Given the description of an element on the screen output the (x, y) to click on. 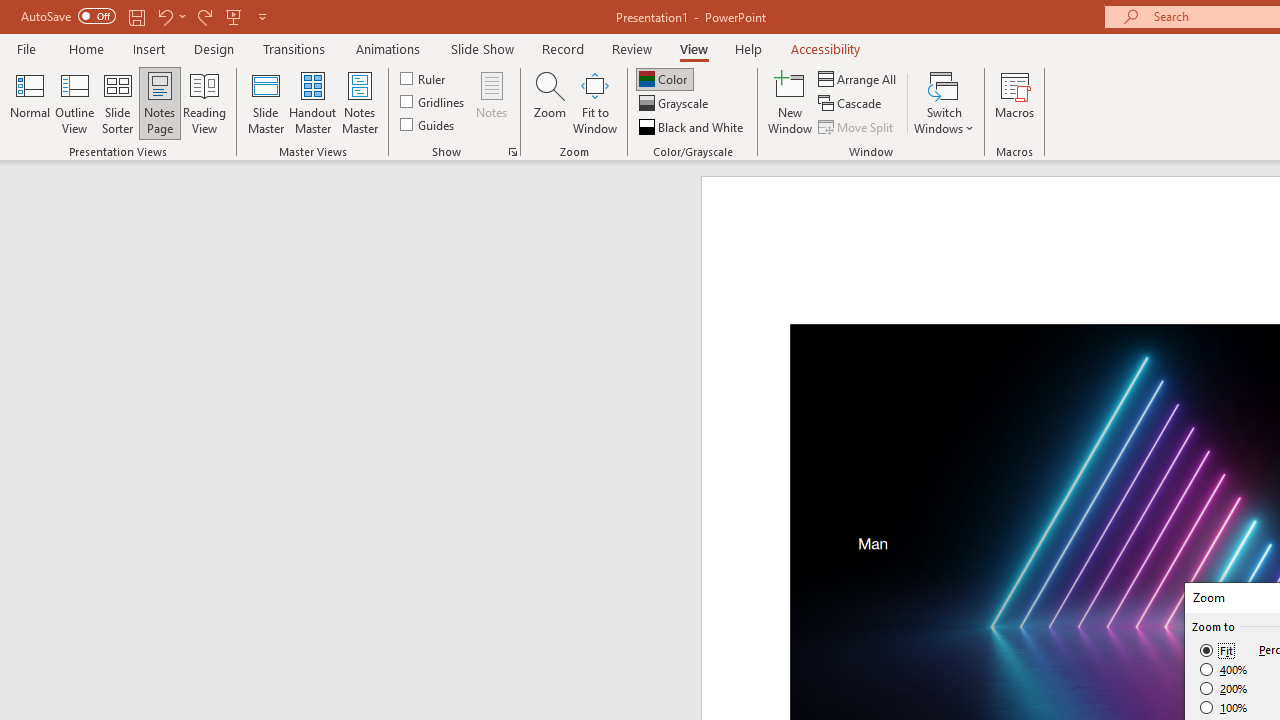
Move Split (857, 126)
Handout Master (312, 102)
New Window (790, 102)
Zoom... (549, 102)
Notes Page (159, 102)
Macros (1014, 102)
Color (664, 78)
200% (1224, 688)
Notes (492, 102)
